Given the description of an element on the screen output the (x, y) to click on. 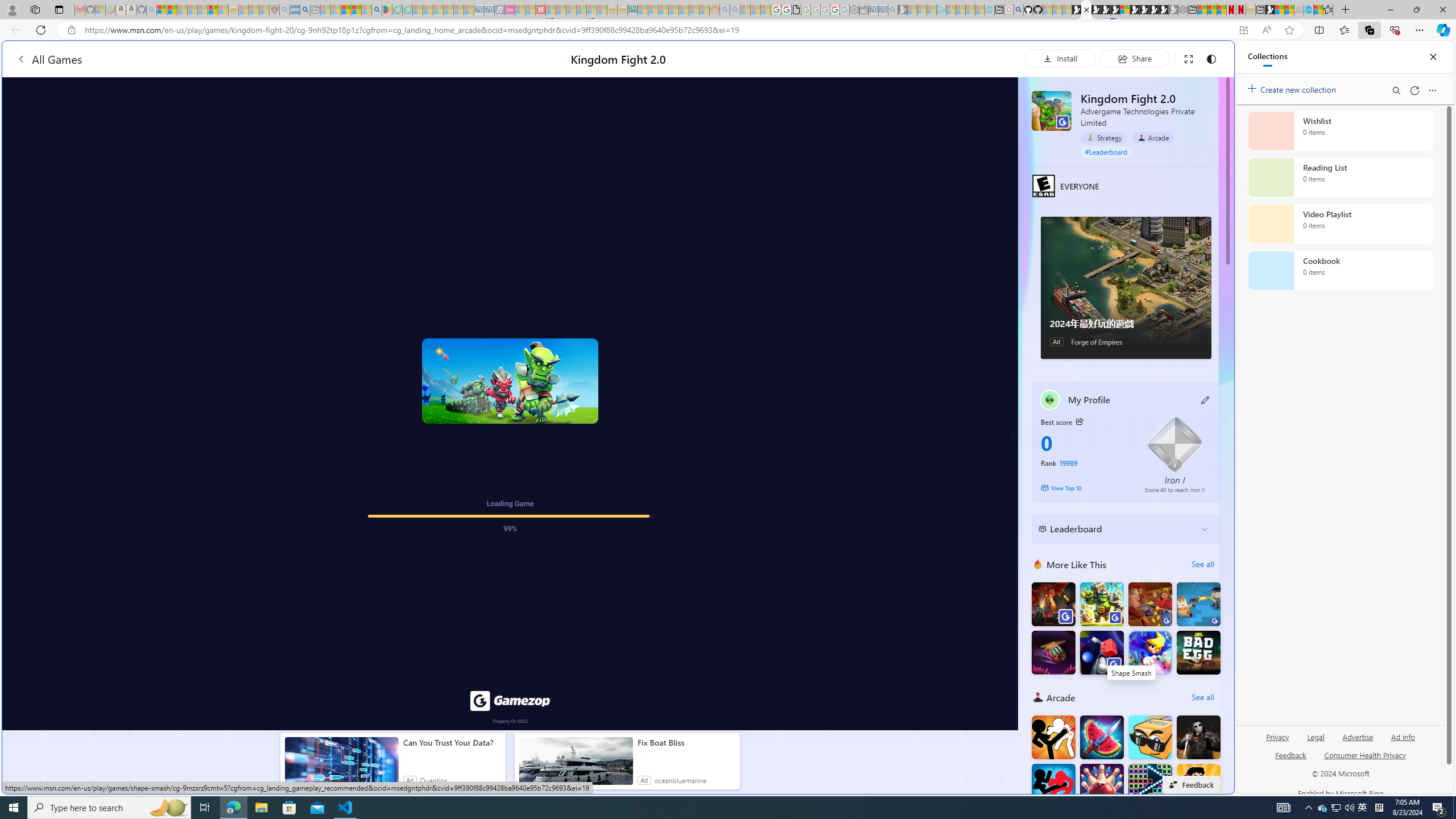
Play Cave FRVR in your browser | Games from Microsoft Start (1105, 9)
More Like This (1037, 563)
AutomationID: processbar (510, 403)
Castle Of Magic (1149, 652)
Heli Dash (1053, 652)
